Given the description of an element on the screen output the (x, y) to click on. 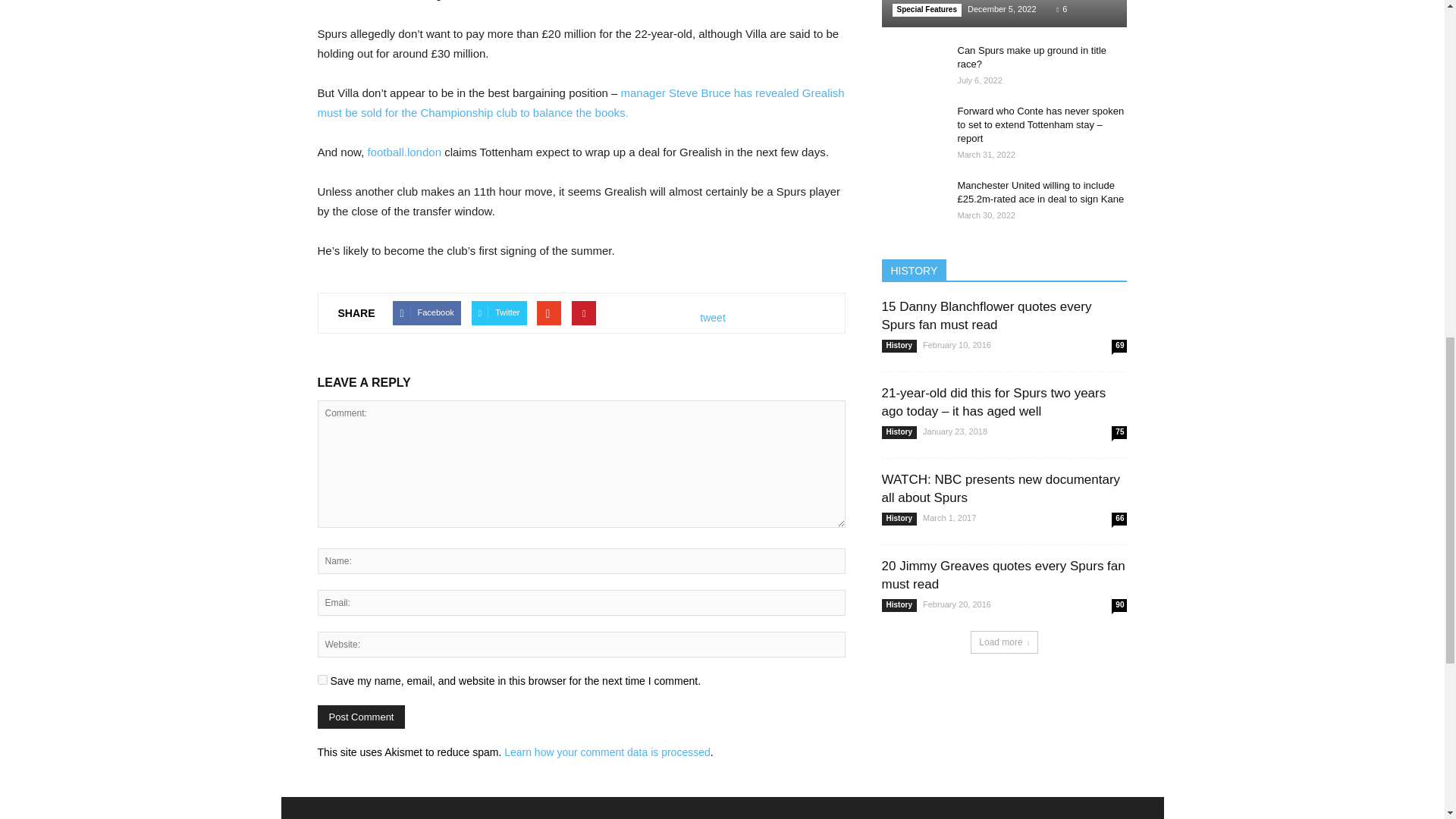
Post Comment (360, 716)
Will Son shine at the 2022 World Cup? (1003, 13)
Can Spurs make up ground in title race? (911, 64)
15 Danny Blanchflower quotes every Spurs fan must read (985, 315)
yes (321, 679)
Can Spurs make up ground in title race? (1031, 57)
WATCH: NBC presents new documentary all about Spurs (999, 488)
